Given the description of an element on the screen output the (x, y) to click on. 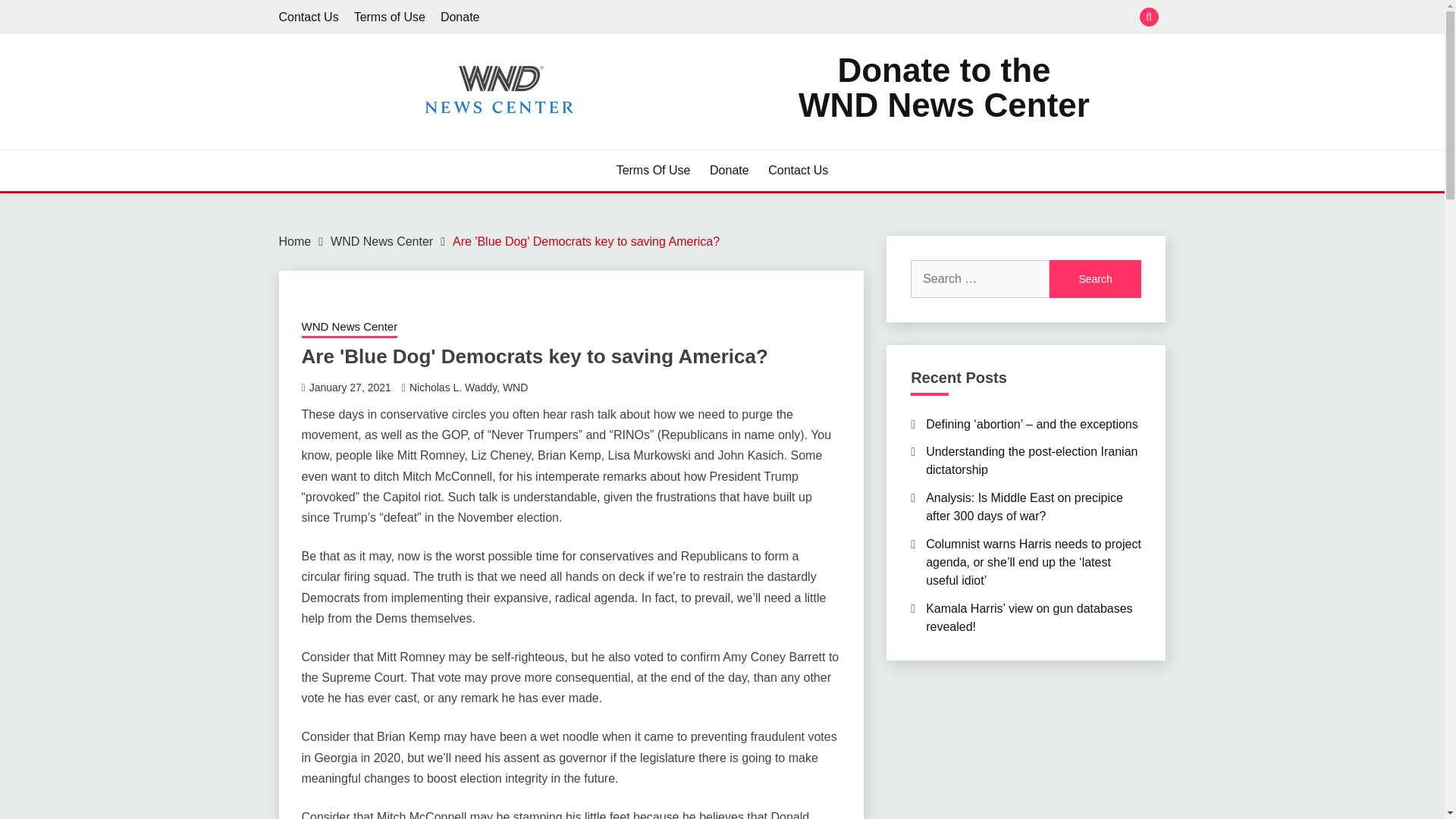
Donate (460, 16)
Home (295, 241)
Contact Us (798, 170)
Terms Of Use (652, 170)
Understanding the post-election Iranian dictatorship (1031, 460)
Contact Us (309, 16)
January 27, 2021 (349, 387)
WND News Center (381, 241)
Nicholas L. Waddy, WND (468, 387)
Search (1095, 279)
